Given the description of an element on the screen output the (x, y) to click on. 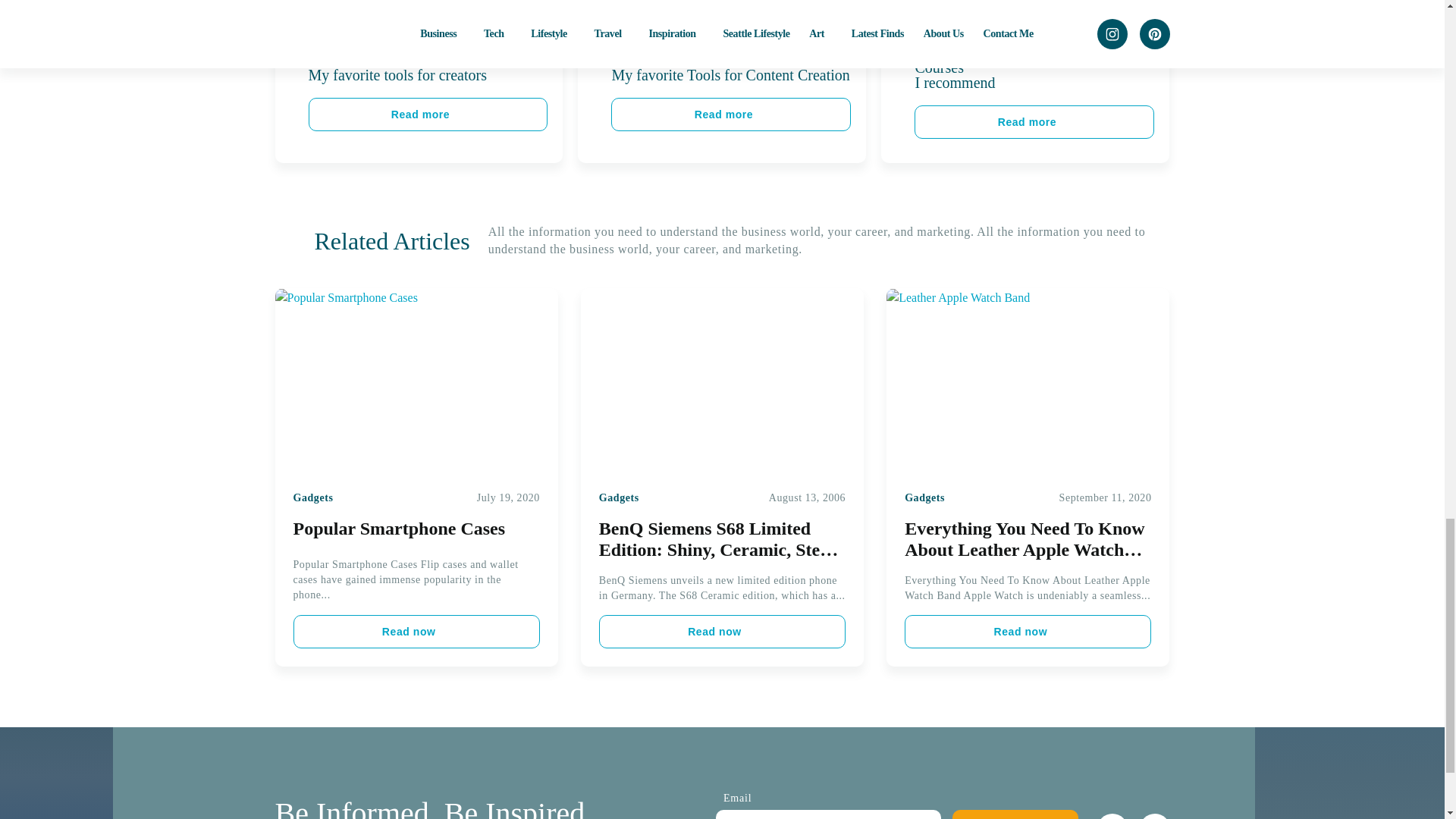
Subscribe (1015, 814)
